Given the description of an element on the screen output the (x, y) to click on. 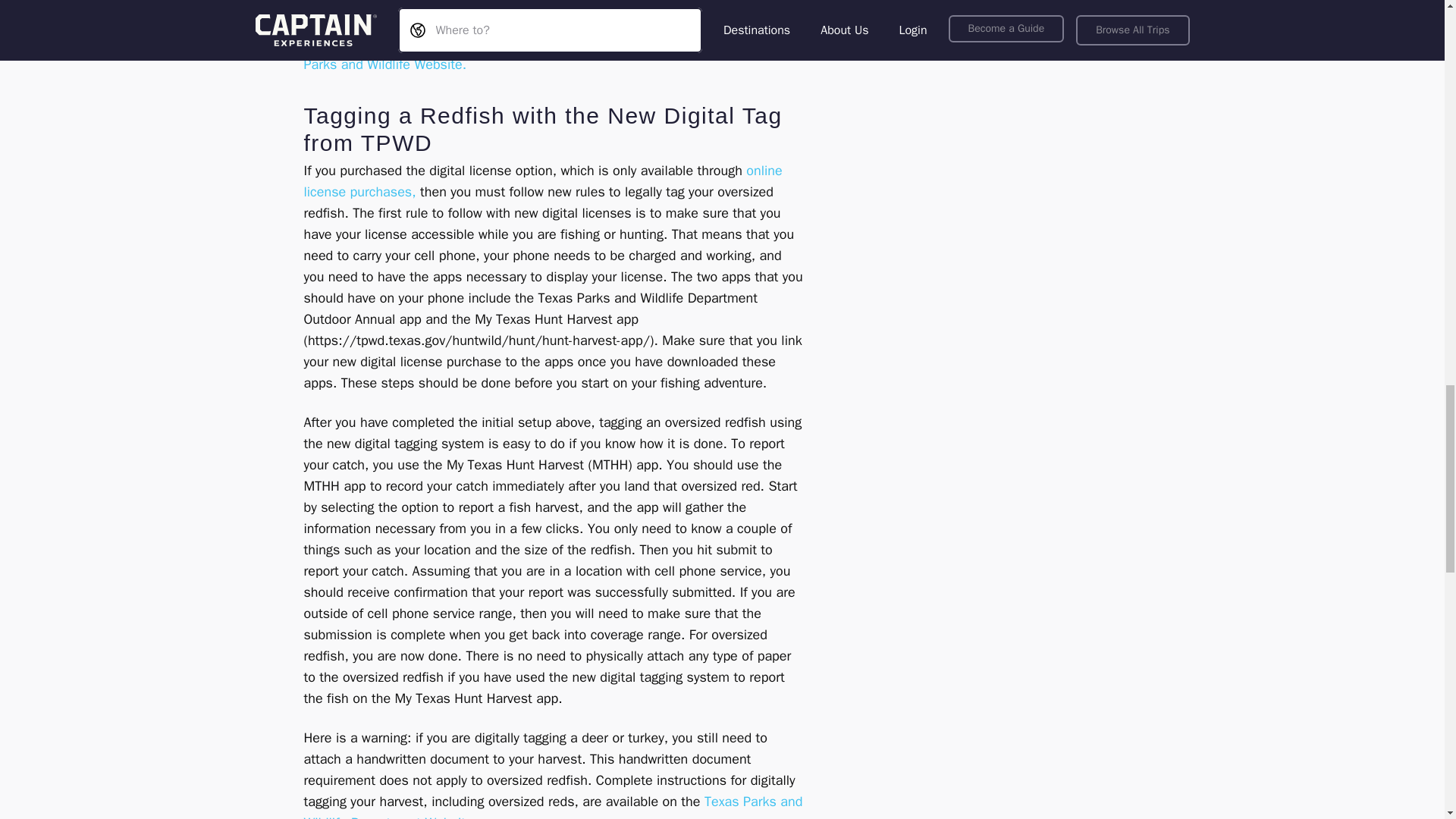
Texas Parks and Wildlife Website. (547, 53)
Texas Parks and Wildlife Department Website. (552, 806)
online license purchases, (541, 180)
